Given the description of an element on the screen output the (x, y) to click on. 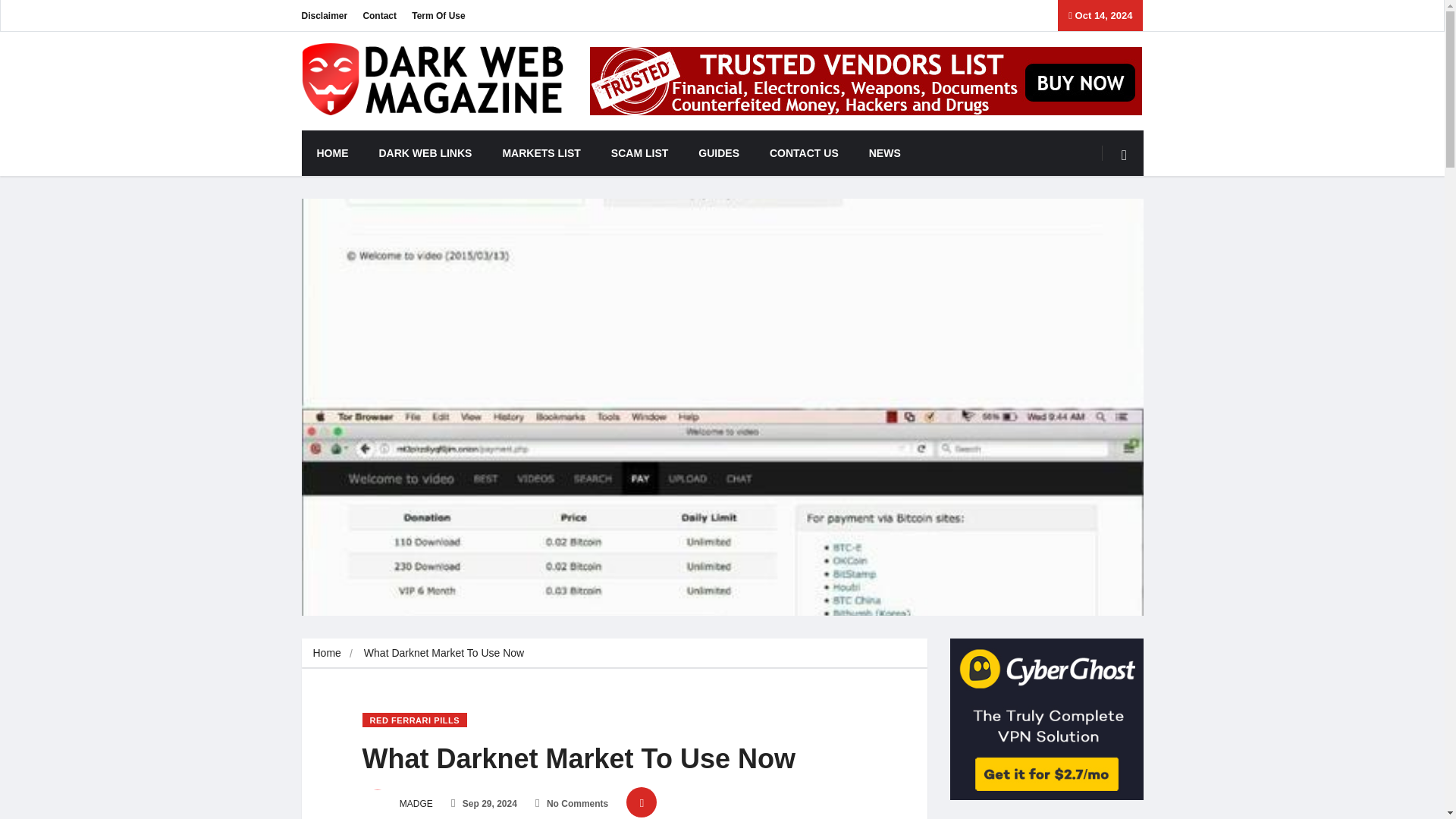
Term Of Use (438, 15)
Contact (379, 15)
HOME (332, 153)
GUIDES (718, 153)
Disclaimer (324, 15)
RED FERRARI PILLS (414, 719)
MADGE (397, 803)
Home (326, 653)
MARKETS LIST (540, 153)
DARK WEB LINKS (425, 153)
